Given the description of an element on the screen output the (x, y) to click on. 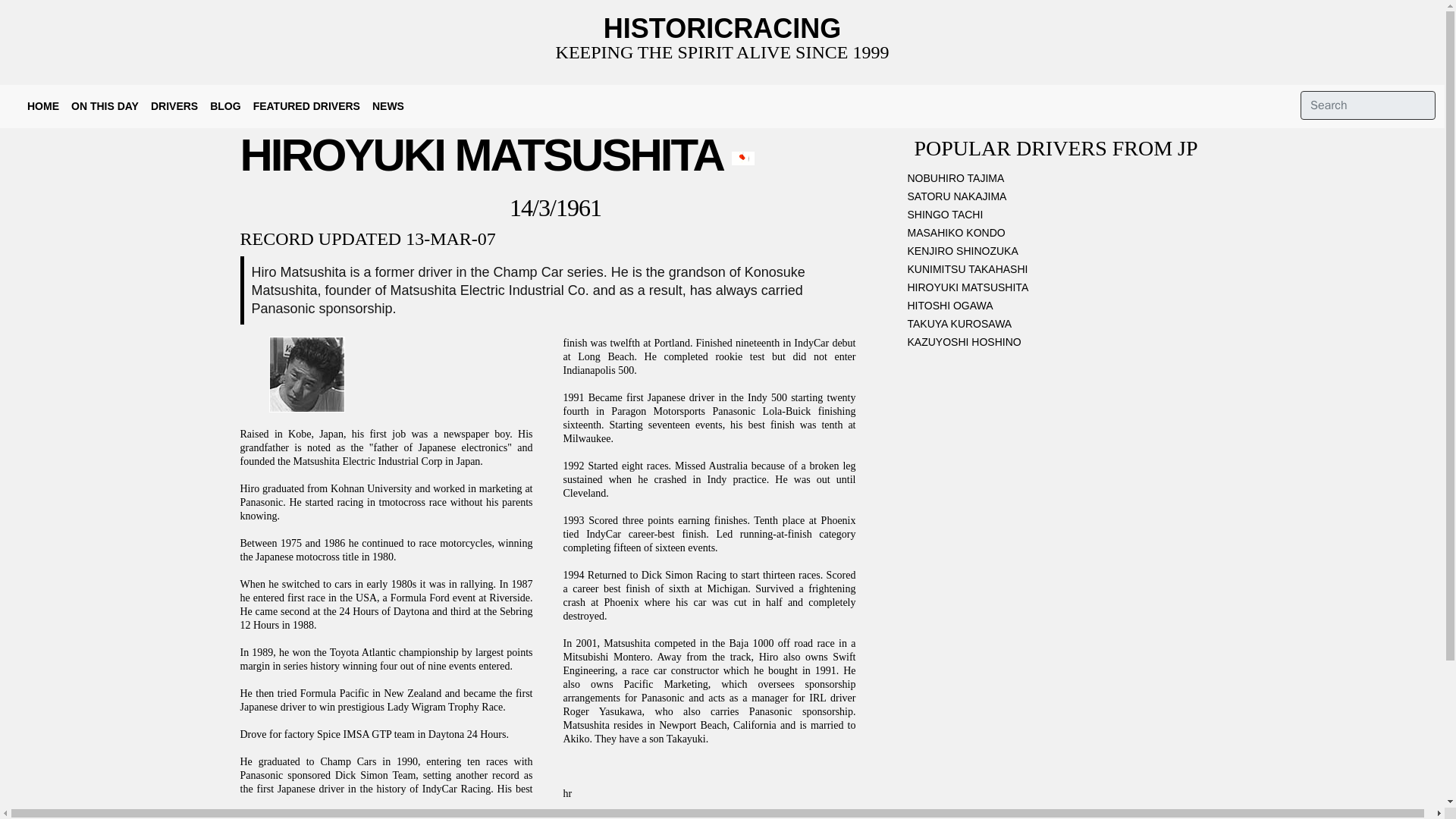
TAKUYA KUROSAWA (1055, 326)
HISTORICRACING (722, 28)
SATORU NAKAJIMA (1055, 199)
HITOSHI OGAWA (1055, 308)
KEEPING THE SPIRIT ALIVE SINCE 1999 (722, 52)
FEATURED DRIVERS (306, 105)
MASAHIKO KONDO (1055, 235)
KENJIRO SHINOZUKA (1055, 253)
ON THIS DAY (104, 105)
HIROYUKI MATSUSHITA (1055, 290)
KUNIMITSU TAKAHASHI (1055, 271)
KAZUYOSHI HOSHINO (1055, 344)
NEWS (388, 105)
BLOG (224, 105)
SHINGO TACHI (1055, 217)
